Given the description of an element on the screen output the (x, y) to click on. 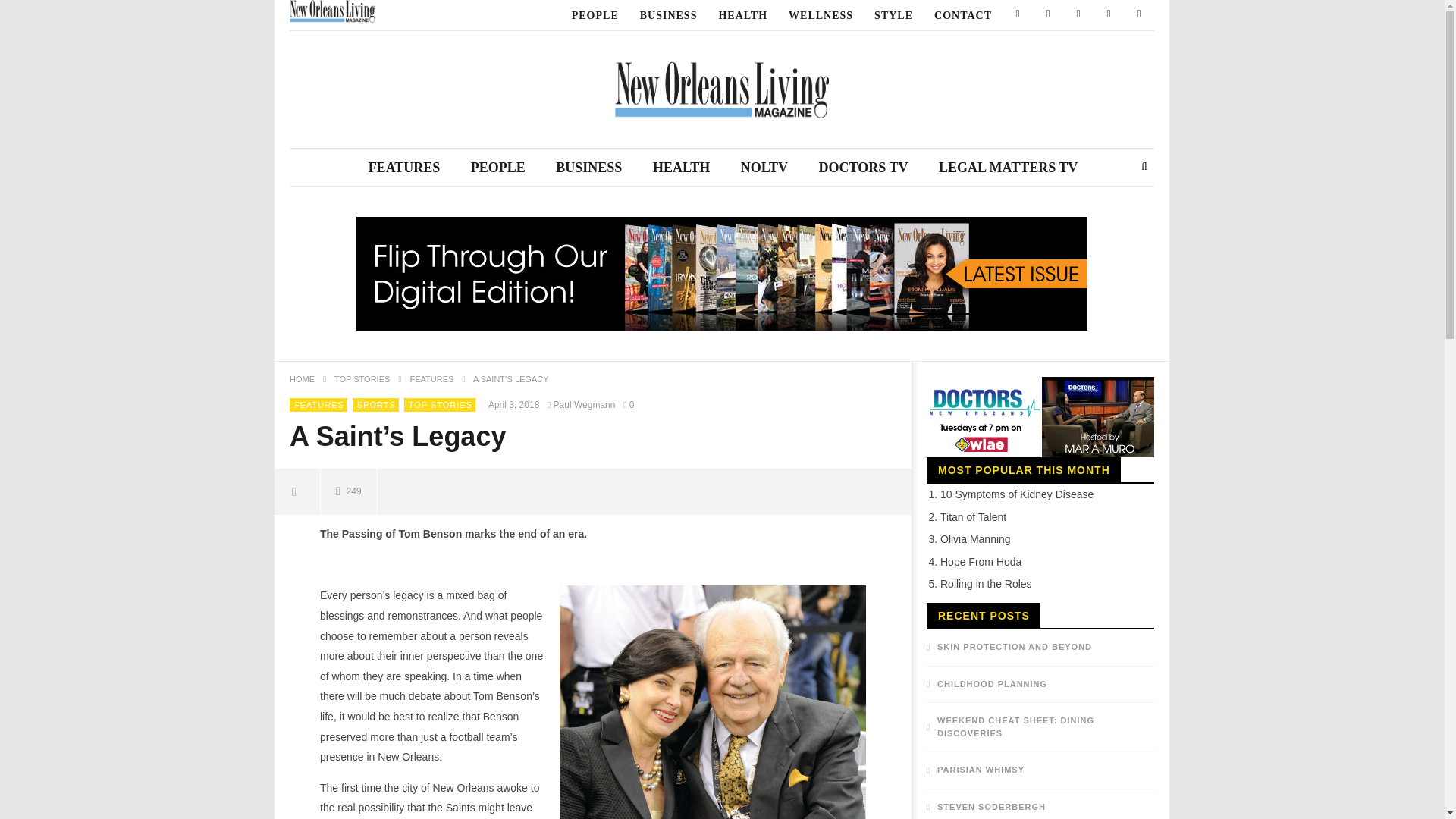
BUSINESS (667, 15)
PEOPLE (594, 15)
Pinterest (1077, 15)
STYLE (893, 15)
Facebook (1017, 15)
View all posts in FEATURES (318, 404)
Vimeo (1139, 15)
Twitter (1047, 15)
Posts by Paul Wegmann (583, 404)
View all posts in SPORTS (376, 404)
